Given the description of an element on the screen output the (x, y) to click on. 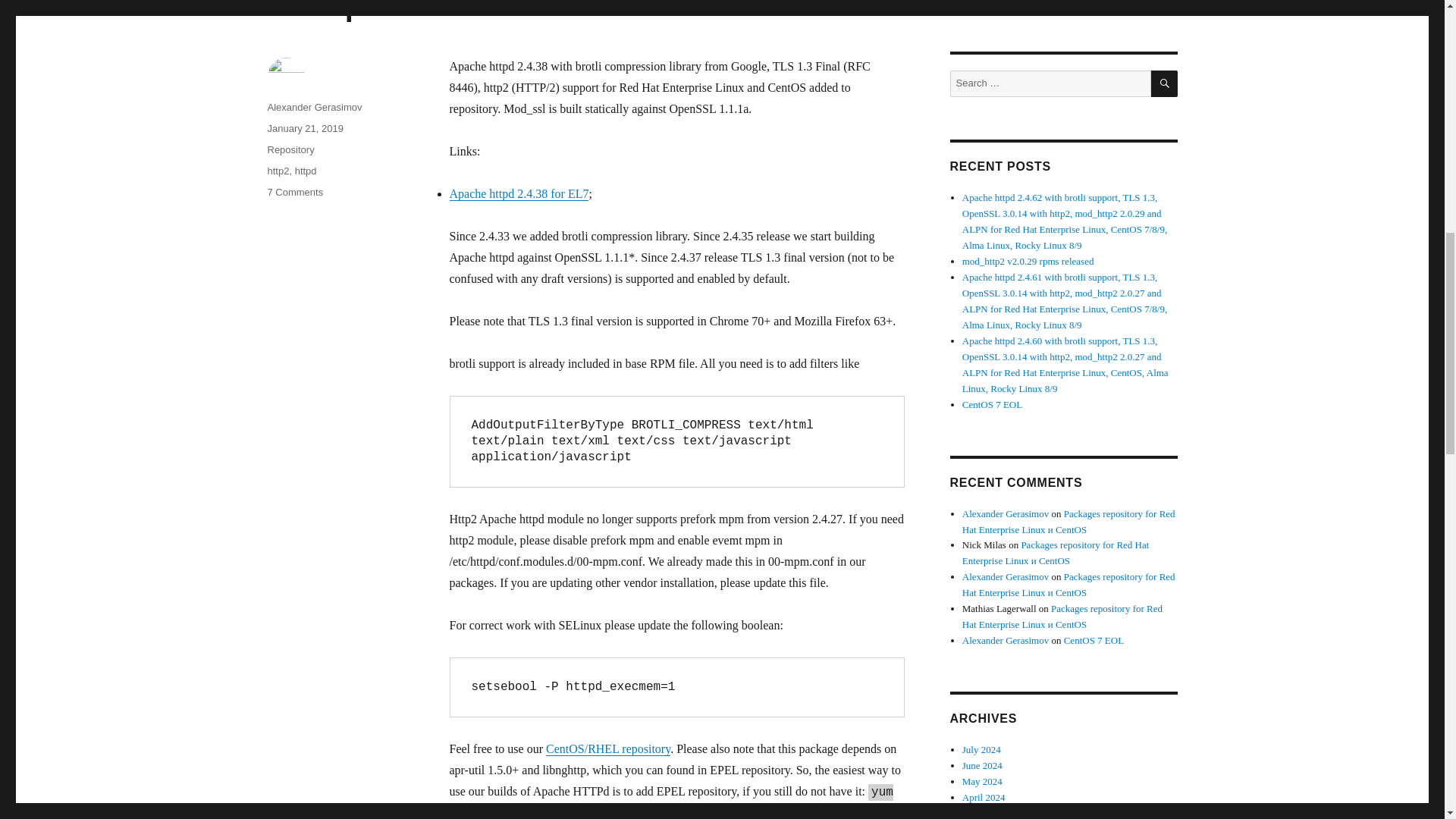
March 2024 (986, 813)
Alexander Gerasimov (1005, 576)
Apache httpd 2.4.38 for EL7 (518, 193)
http2 (277, 170)
Alexander Gerasimov (1005, 640)
Alexander Gerasimov (313, 107)
CentOS 7 EOL (1094, 640)
April 2024 (984, 797)
July 2024 (981, 749)
Alexander Gerasimov (1005, 513)
SEARCH (1164, 83)
CentOS 7 EOL (992, 404)
httpd (306, 170)
January 21, 2019 (304, 128)
May 2024 (982, 781)
